Given the description of an element on the screen output the (x, y) to click on. 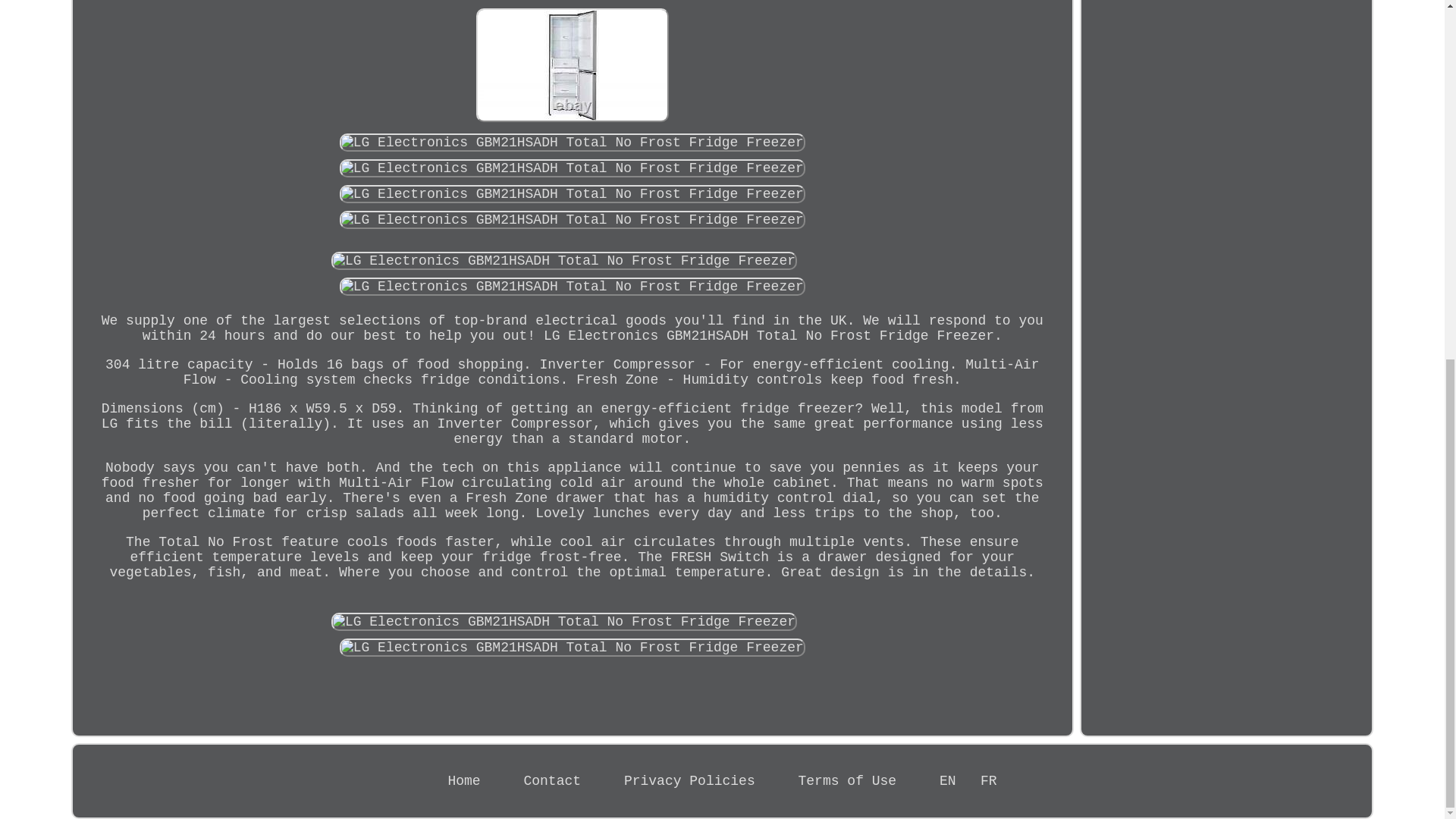
LG Electronics GBM21HSADH Total No Frost Fridge Freezer (572, 647)
LG Electronics GBM21HSADH Total No Frost Fridge Freezer (563, 260)
LG Electronics GBM21HSADH Total No Frost Fridge Freezer (572, 167)
LG Electronics GBM21HSADH Total No Frost Fridge Freezer (572, 286)
LG Electronics GBM21HSADH Total No Frost Fridge Freezer (563, 621)
LG Electronics GBM21HSADH Total No Frost Fridge Freezer (572, 219)
LG Electronics GBM21HSADH Total No Frost Fridge Freezer (572, 142)
LG Electronics GBM21HSADH Total No Frost Fridge Freezer (572, 194)
LG Electronics GBM21HSADH Total No Frost Fridge Freezer (572, 65)
